Given the description of an element on the screen output the (x, y) to click on. 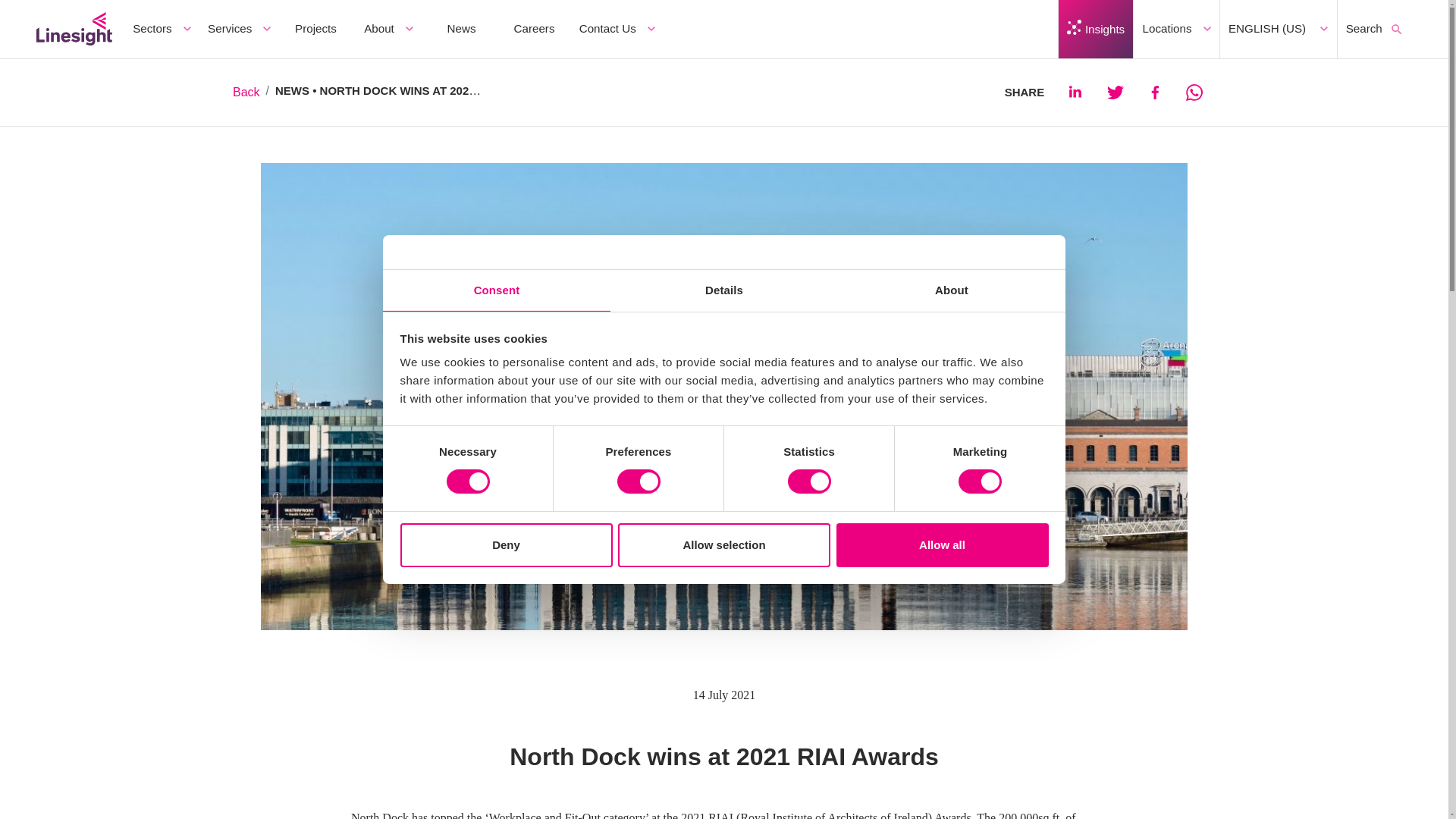
Consent (496, 291)
Details (724, 291)
About (951, 291)
